Given the description of an element on the screen output the (x, y) to click on. 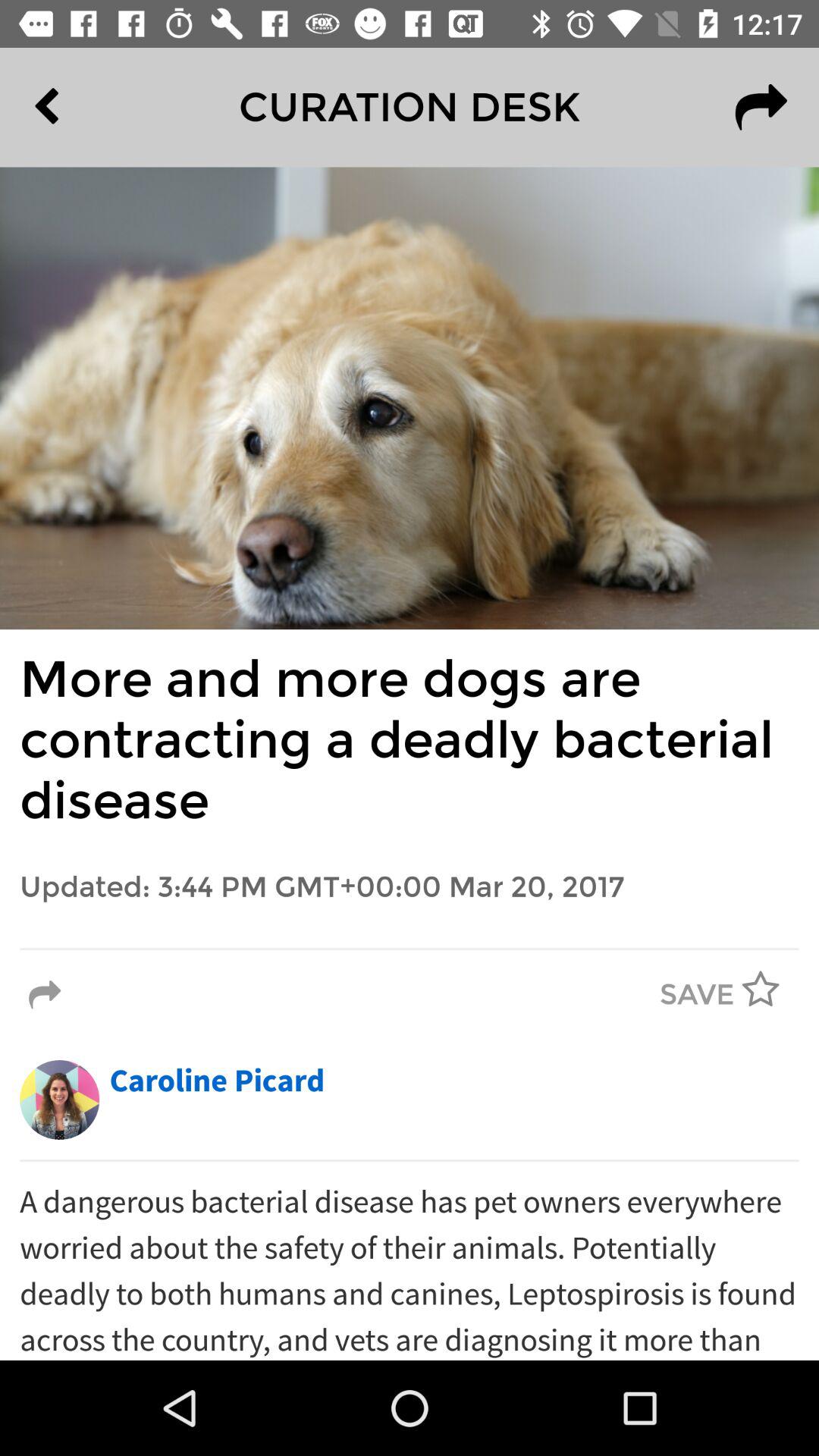
click item next to save (44, 995)
